Given the description of an element on the screen output the (x, y) to click on. 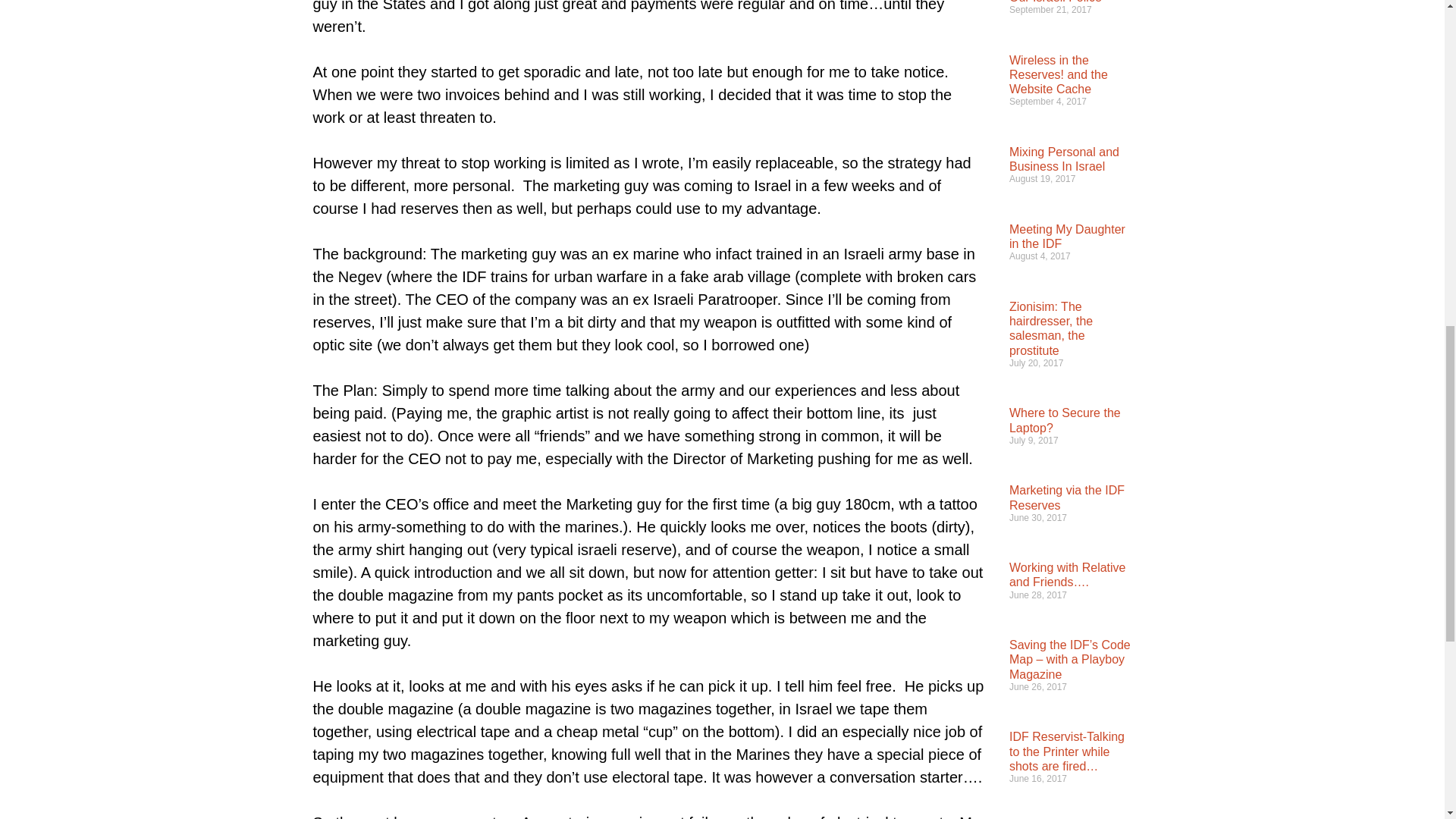
Wireless in the Reserves! and the Website Cache (1058, 74)
Where to Secure the Laptop? (1065, 420)
Zionisim: The hairdresser, the salesman, the prostitute (1051, 328)
Mixing Personal and Business In Israel (1064, 158)
Our Israeli Police (1055, 2)
Meeting My Daughter in the IDF (1067, 236)
